Given the description of an element on the screen output the (x, y) to click on. 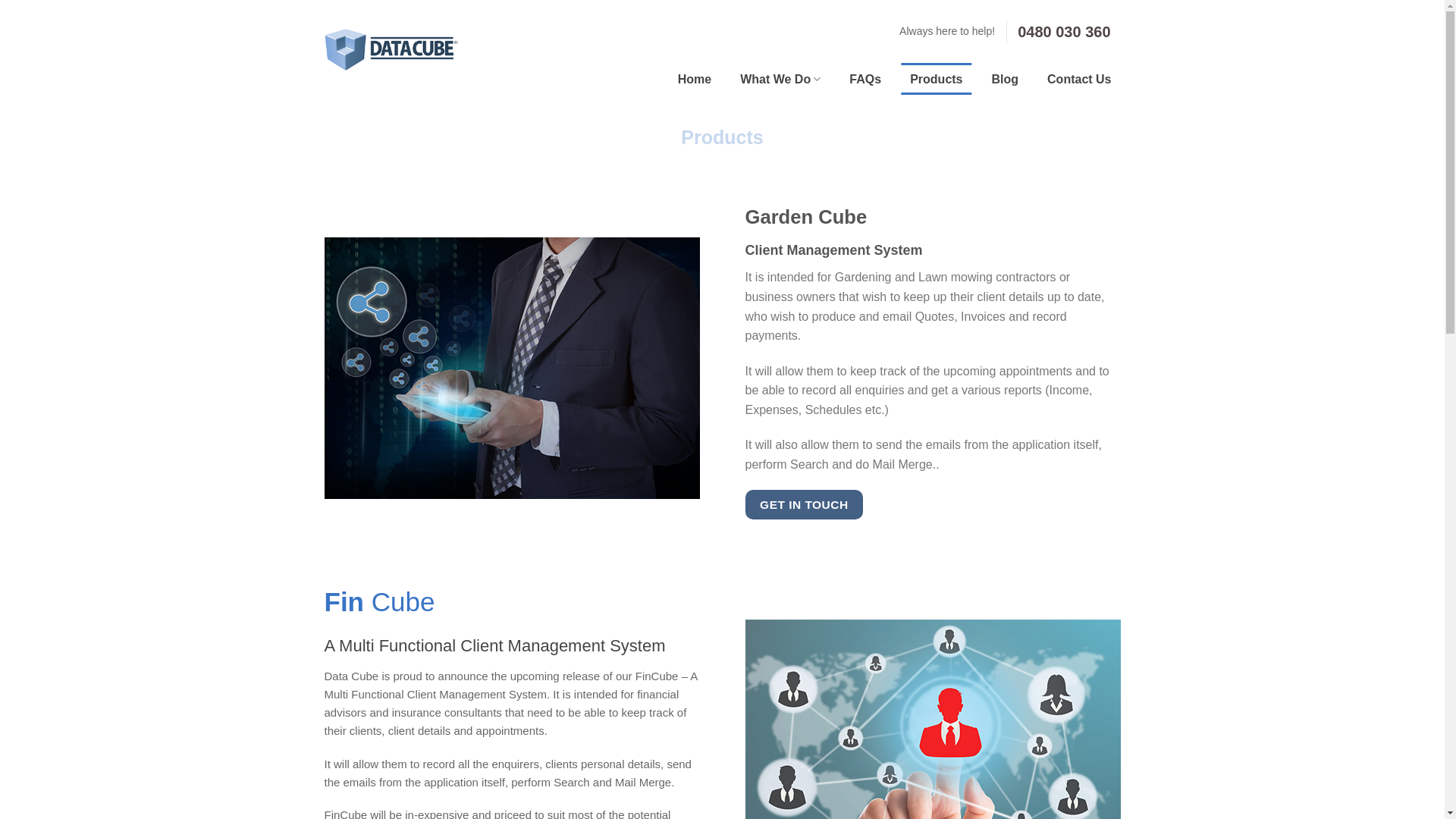
Products Element type: text (936, 79)
0480 030 360 Element type: text (1063, 30)
Home Element type: text (694, 79)
Datacube -  Element type: hover (391, 49)
Contact Us Element type: text (1078, 79)
Blog Element type: text (1005, 79)
What We Do Element type: text (780, 79)
Skip to content Element type: text (0, 0)
GET IN TOUCH Element type: text (803, 504)
FAQs Element type: text (865, 79)
